Given the description of an element on the screen output the (x, y) to click on. 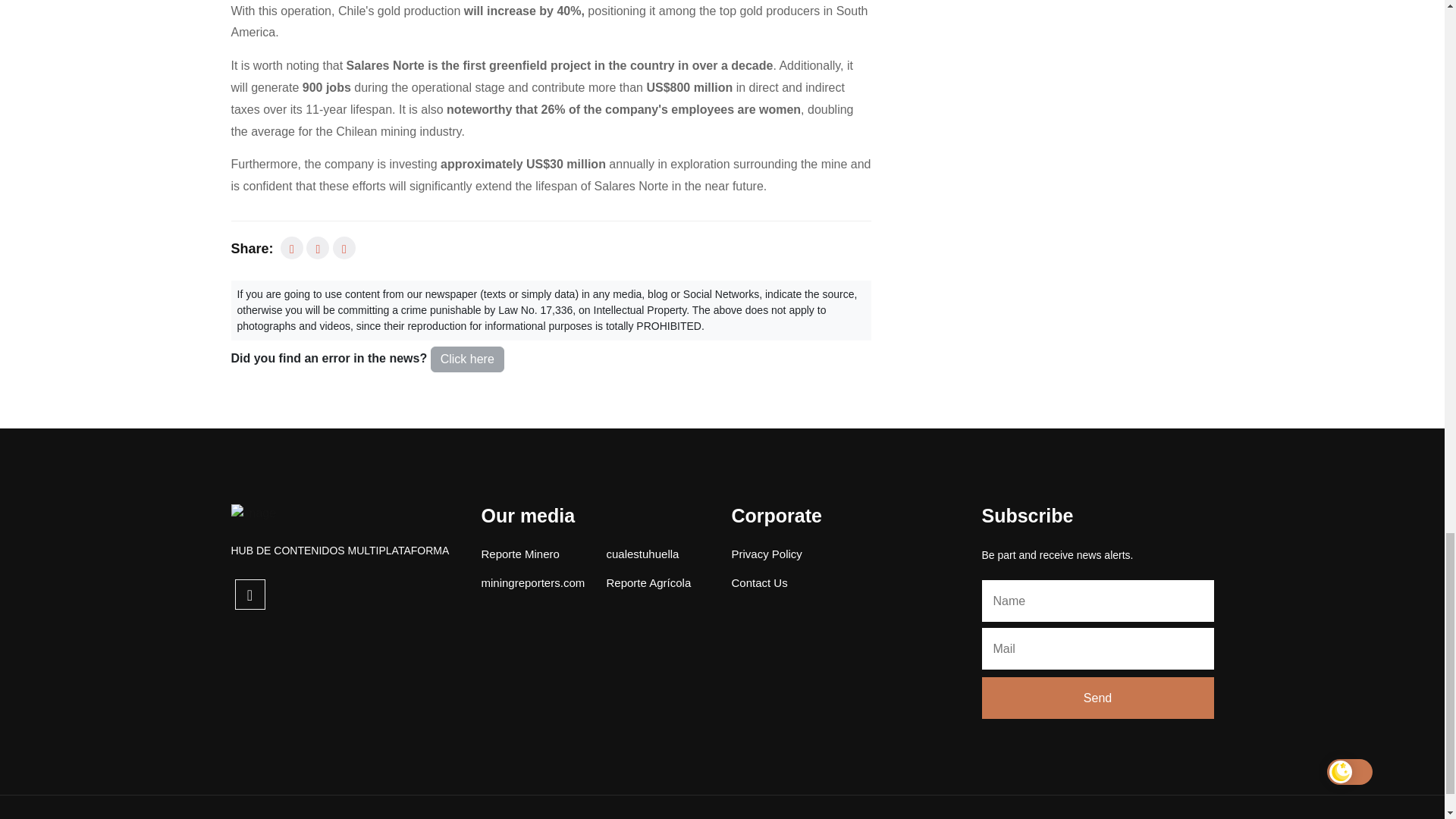
cualestuhuella (643, 553)
Reporte Minero (519, 553)
miningreporters.com (532, 582)
Send (1096, 698)
Contact Us (758, 582)
Privacy Policy (766, 553)
Compartir en Twitter (317, 247)
Click here (466, 359)
